Given the description of an element on the screen output the (x, y) to click on. 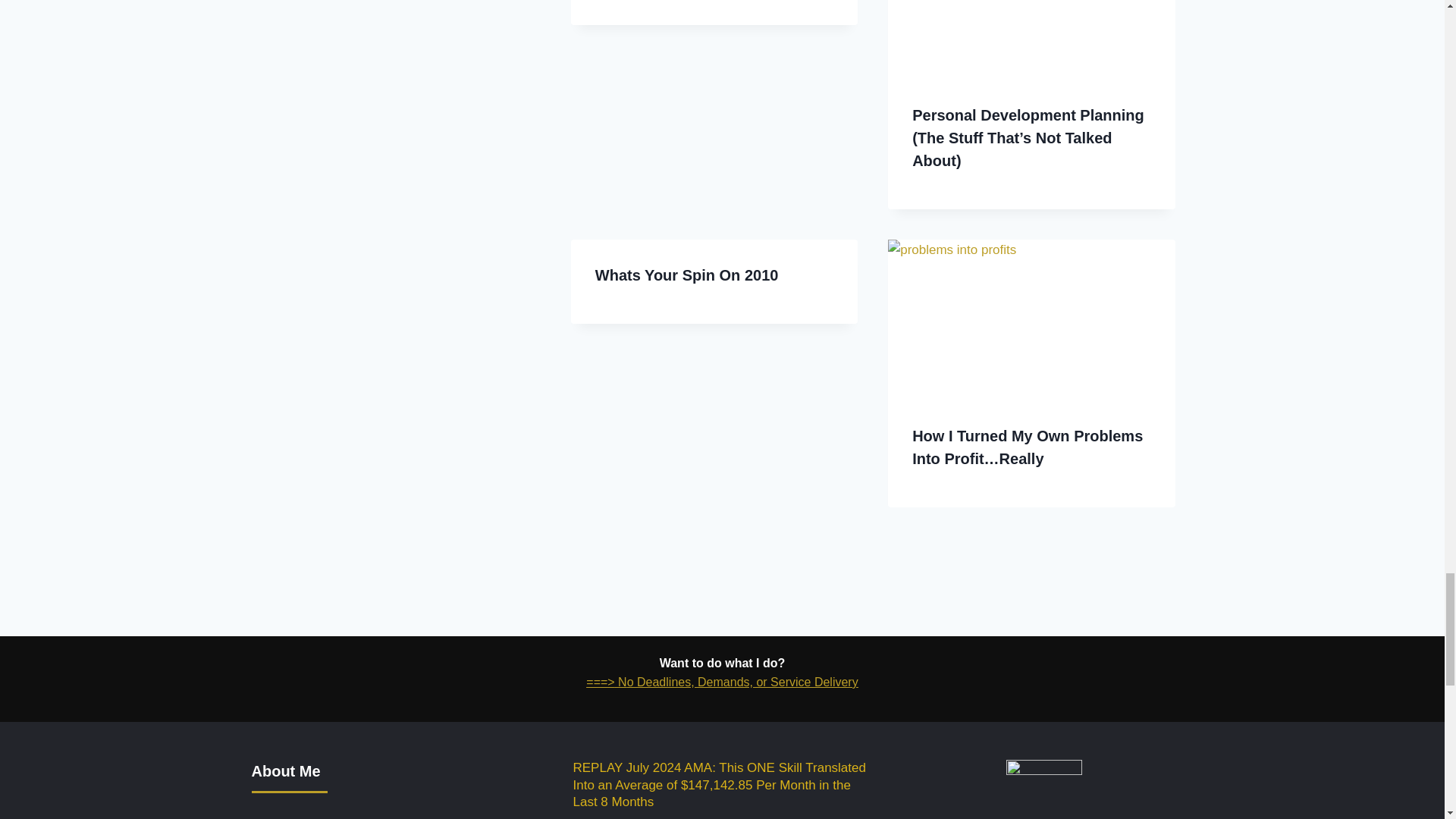
Whats Your Spin On 2010 (686, 274)
